Given the description of an element on the screen output the (x, y) to click on. 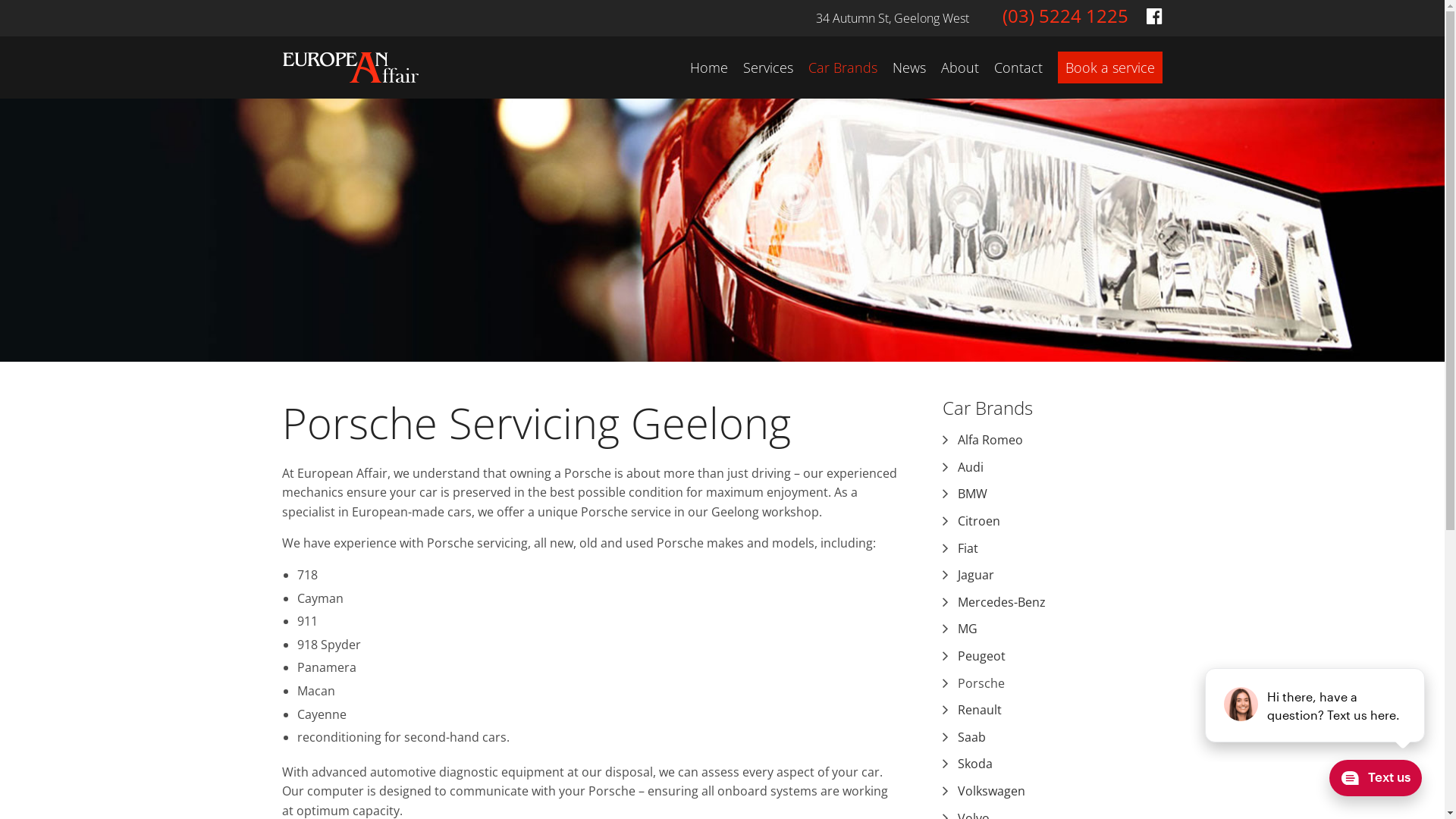
Services Element type: text (768, 67)
Citroen Element type: text (1057, 521)
Fiat Element type: text (1057, 548)
Audi Element type: text (1057, 467)
Alfa Romeo Element type: text (1057, 440)
News Element type: text (908, 67)
Mercedes-Benz Element type: text (1057, 602)
Volkswagen Element type: text (1057, 791)
MG Element type: text (1057, 629)
Book a service Element type: text (1109, 67)
Car Brands Element type: text (842, 67)
Skoda Element type: text (1057, 764)
Jaguar Element type: text (1057, 575)
podium webchat widget prompt Element type: hover (1315, 705)
34 Autumn St, Geelong West Element type: text (892, 15)
About Element type: text (960, 67)
Contact Element type: text (1018, 67)
Car Brands Element type: text (987, 407)
BMW Element type: text (1057, 494)
(03) 5224 1225 Element type: text (1065, 15)
Home Element type: text (709, 67)
Renault Element type: text (1057, 710)
Peugeot Element type: text (1057, 656)
Saab Element type: text (1057, 737)
